Given the description of an element on the screen output the (x, y) to click on. 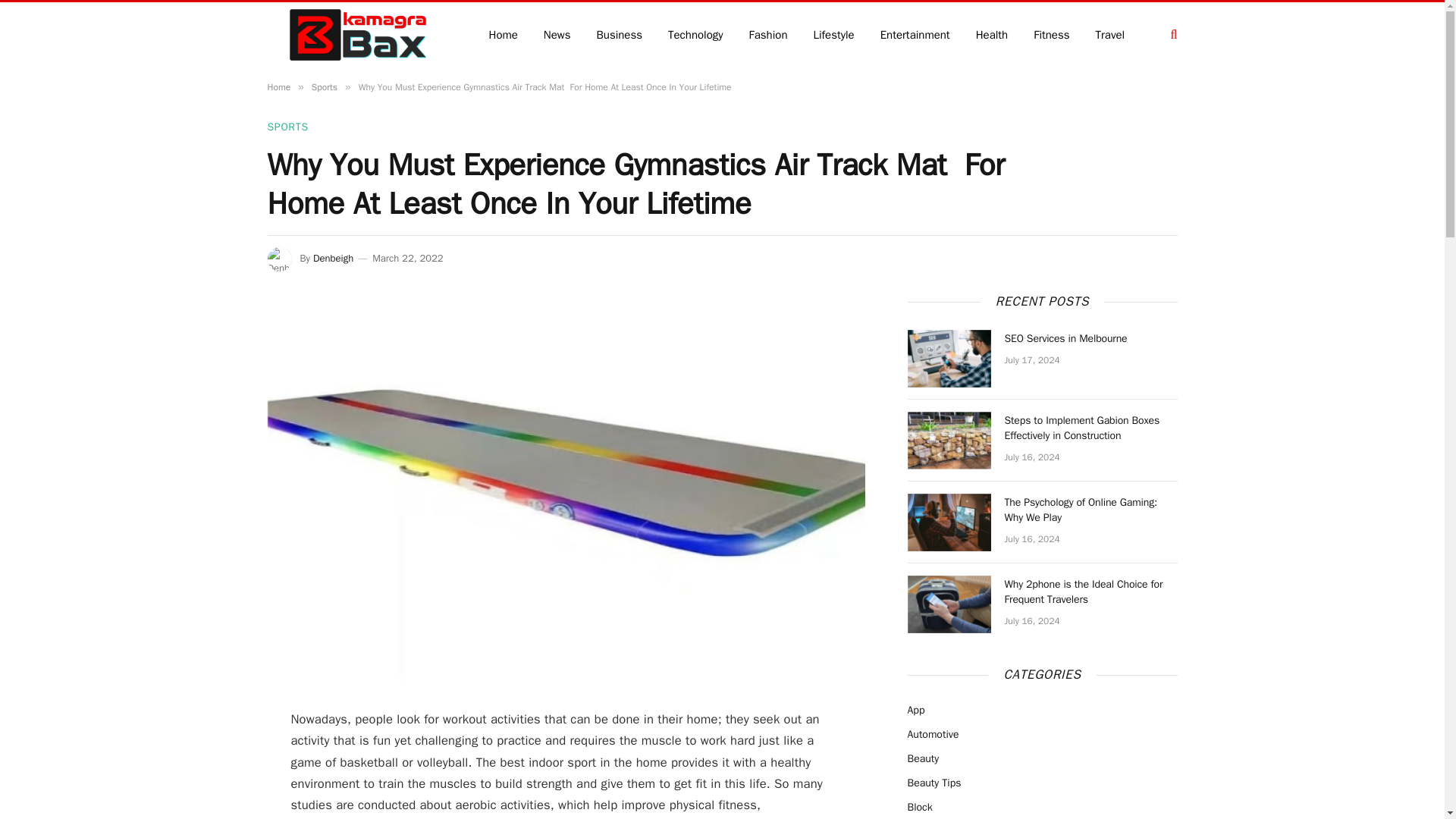
SPORTS (286, 126)
Posts by Denbeigh (333, 257)
Sports (324, 87)
SEO Services in Melbourne (948, 358)
Technology (695, 34)
Kamagrabax.com (357, 34)
Steps to Implement Gabion Boxes Effectively in Construction (948, 440)
Denbeigh (333, 257)
Fitness (1050, 34)
Home (277, 87)
Business (619, 34)
Fashion (768, 34)
Health (992, 34)
Entertainment (914, 34)
